Given the description of an element on the screen output the (x, y) to click on. 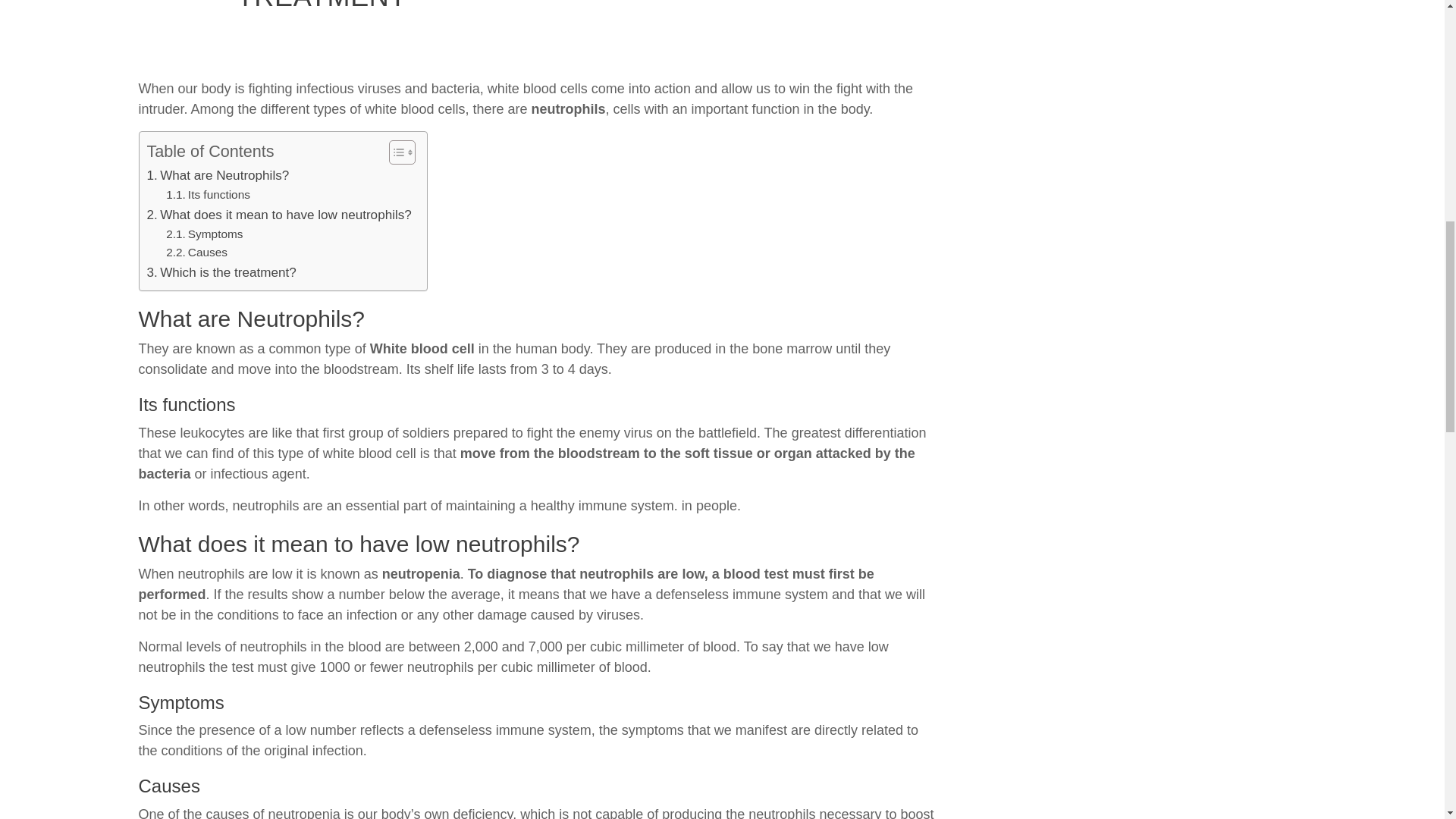
Causes (196, 470)
Symptoms (204, 452)
What are Neutrophils? (218, 394)
Which is the treatment? (222, 490)
What are Neutrophils? (218, 394)
Which is the treatment? (222, 490)
What does it mean to have low neutrophils? (279, 433)
What does it mean to have low neutrophils? (279, 433)
Symptoms (204, 452)
Causes (196, 470)
Its functions (207, 413)
Its functions (207, 413)
